Given the description of an element on the screen output the (x, y) to click on. 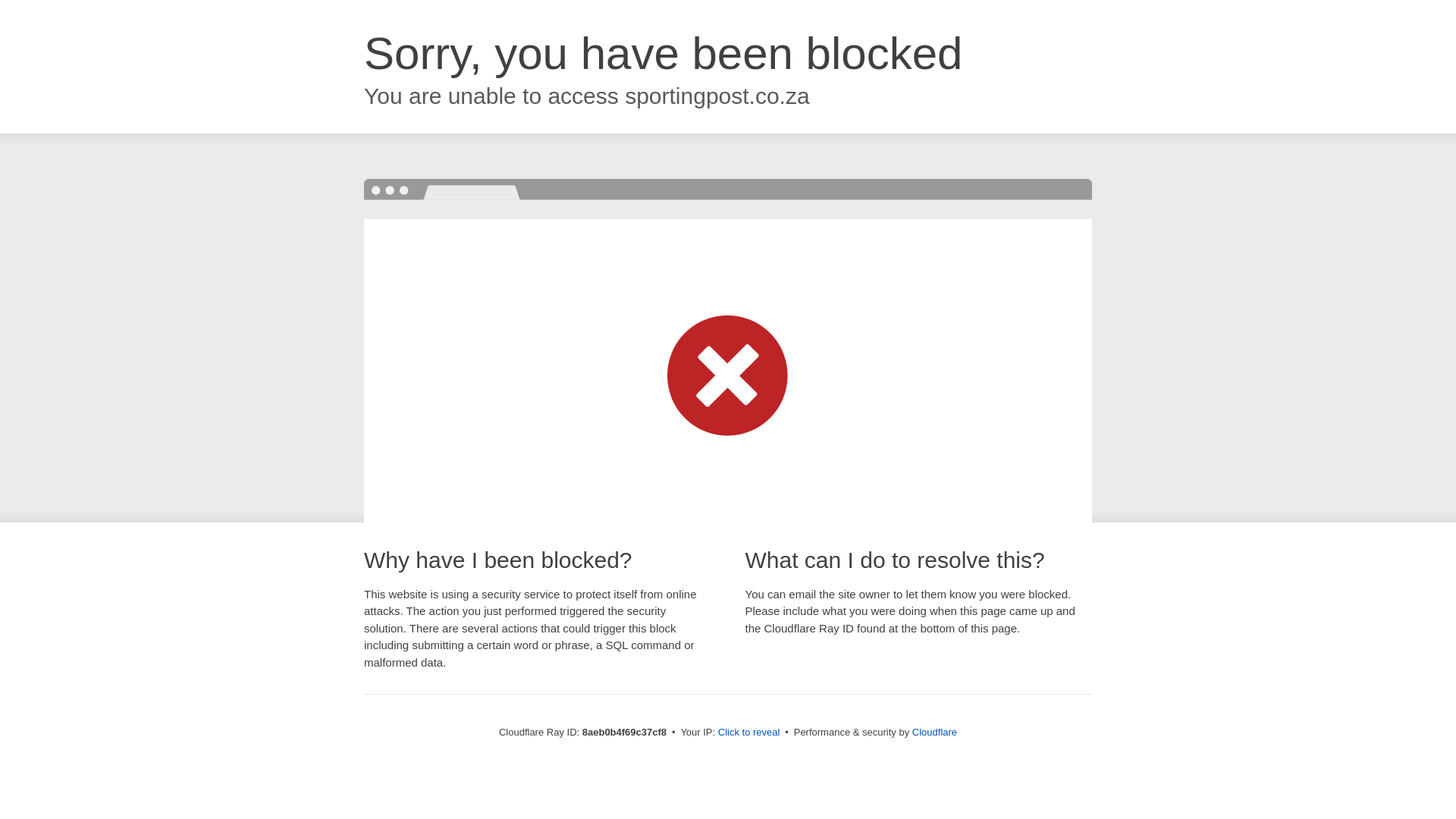
Cloudflare (934, 731)
Click to reveal (748, 732)
